Given the description of an element on the screen output the (x, y) to click on. 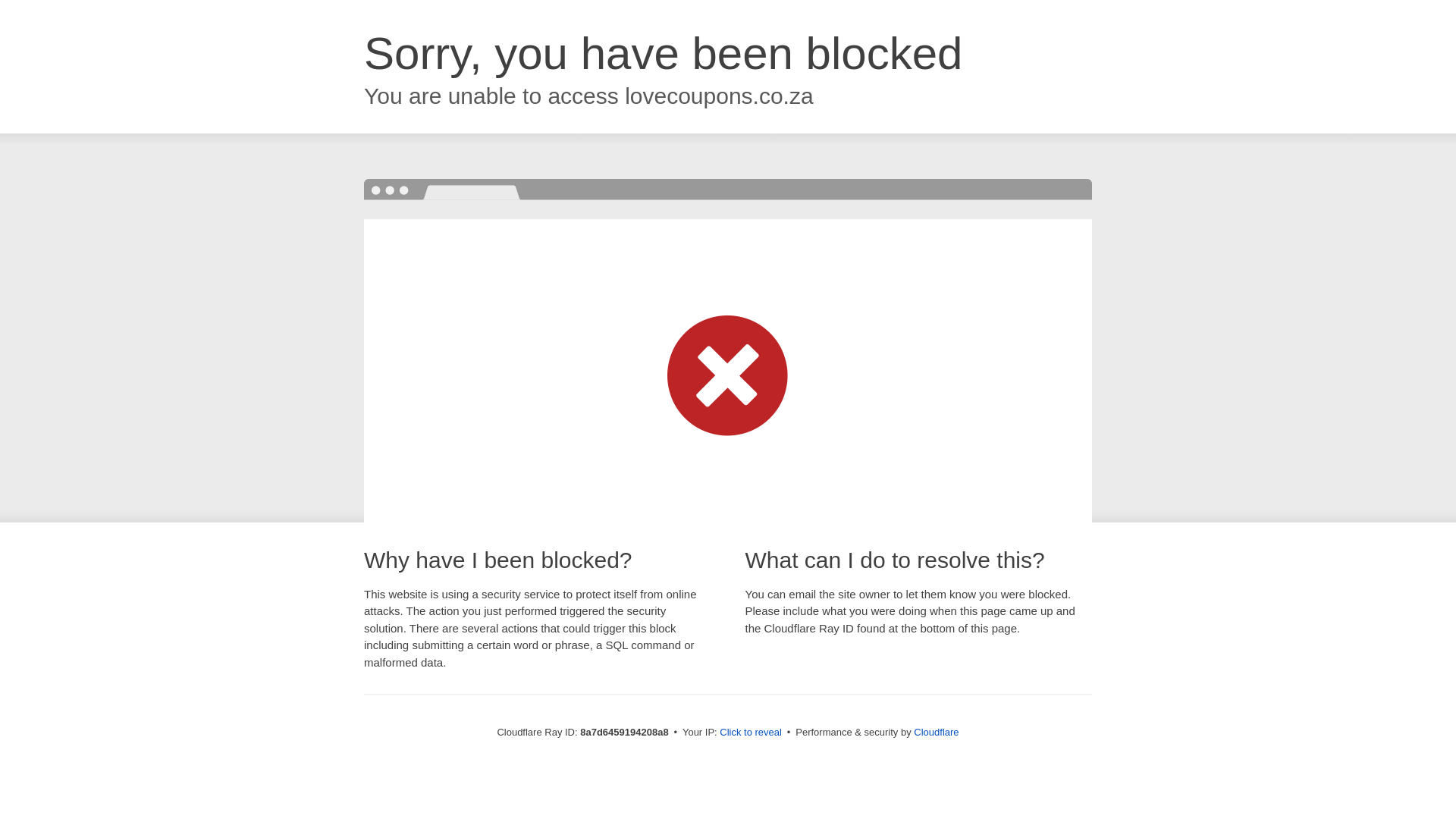
Click to reveal (750, 732)
Cloudflare (936, 731)
